Given the description of an element on the screen output the (x, y) to click on. 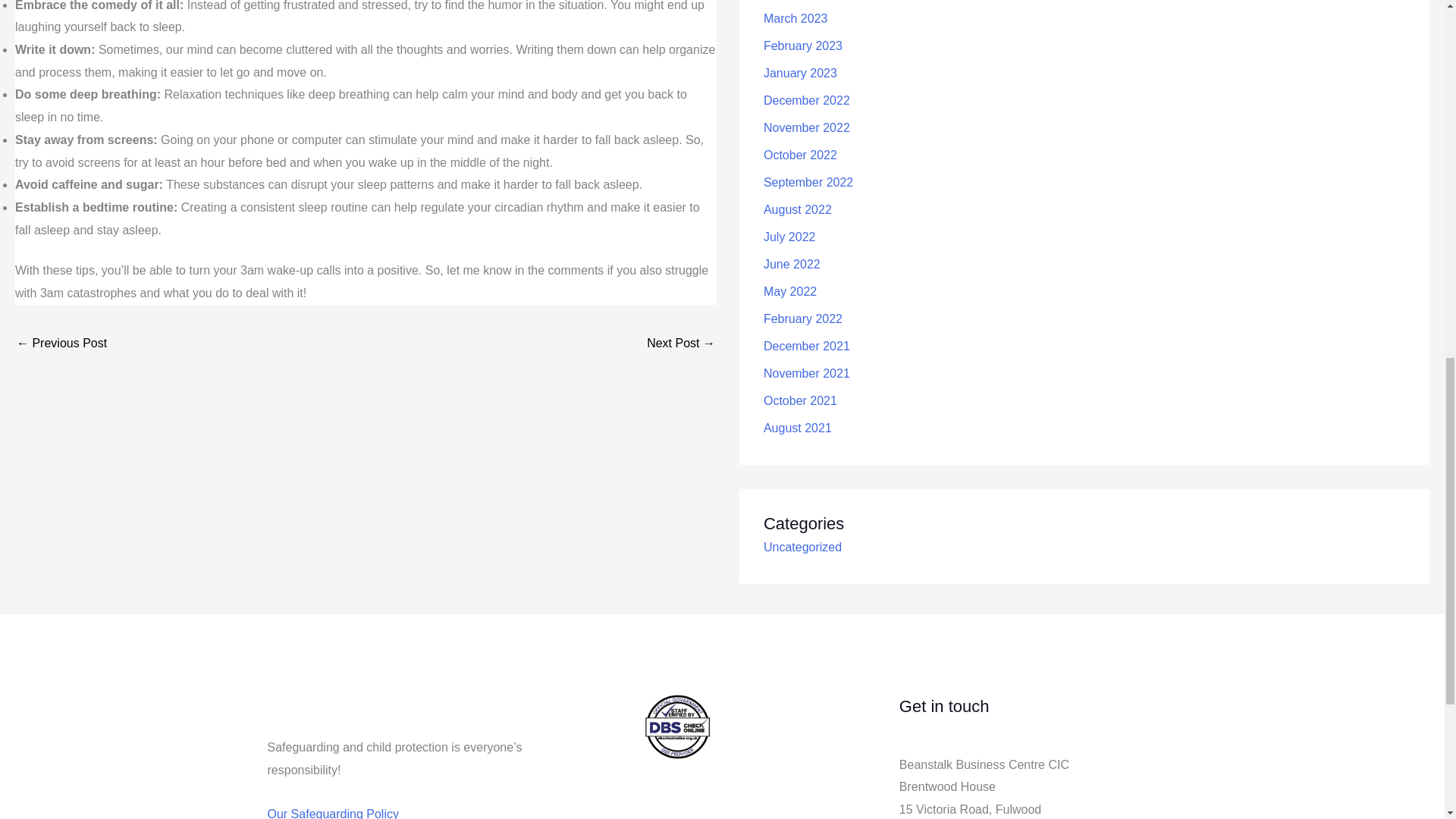
Apprenticeships: Finding your future! (680, 344)
